Given the description of an element on the screen output the (x, y) to click on. 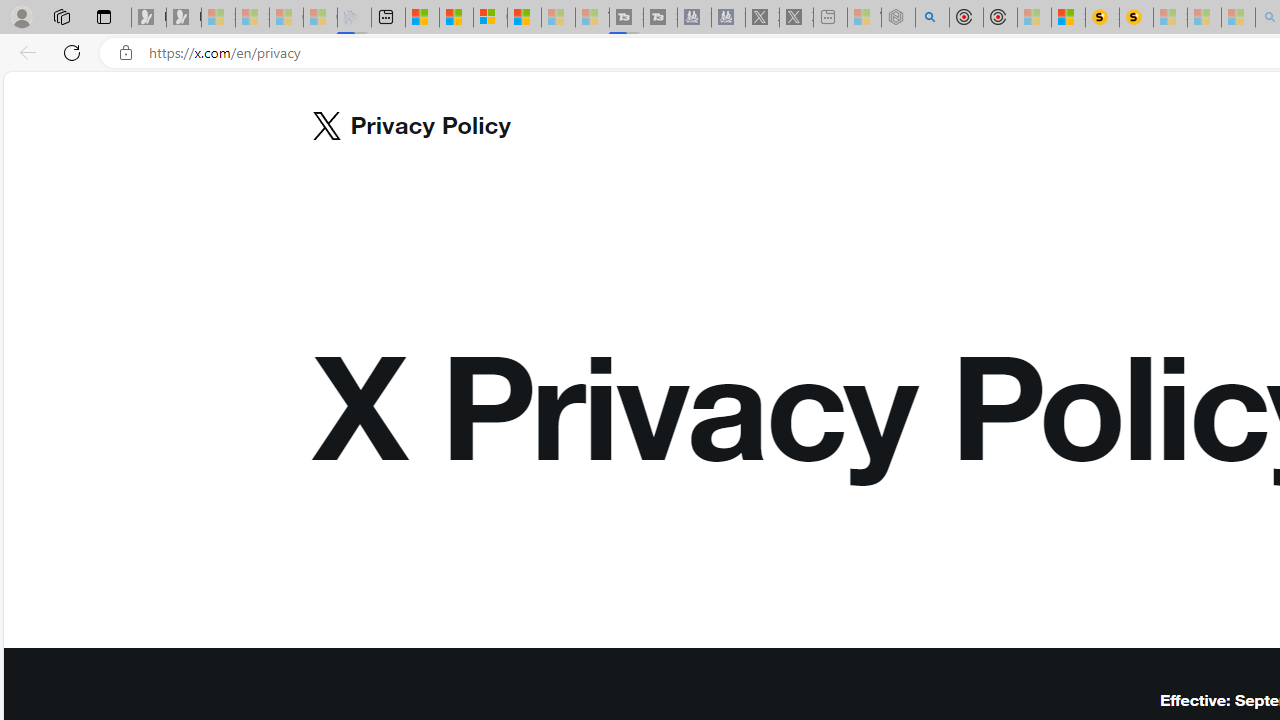
Nordace - Summer Adventures 2024 - Sleeping (898, 17)
poe - Search (932, 17)
New tab - Sleeping (830, 17)
Streaming Coverage | T3 - Sleeping (626, 17)
Michelle Starr, Senior Journalist at ScienceAlert (1136, 17)
